Given the description of an element on the screen output the (x, y) to click on. 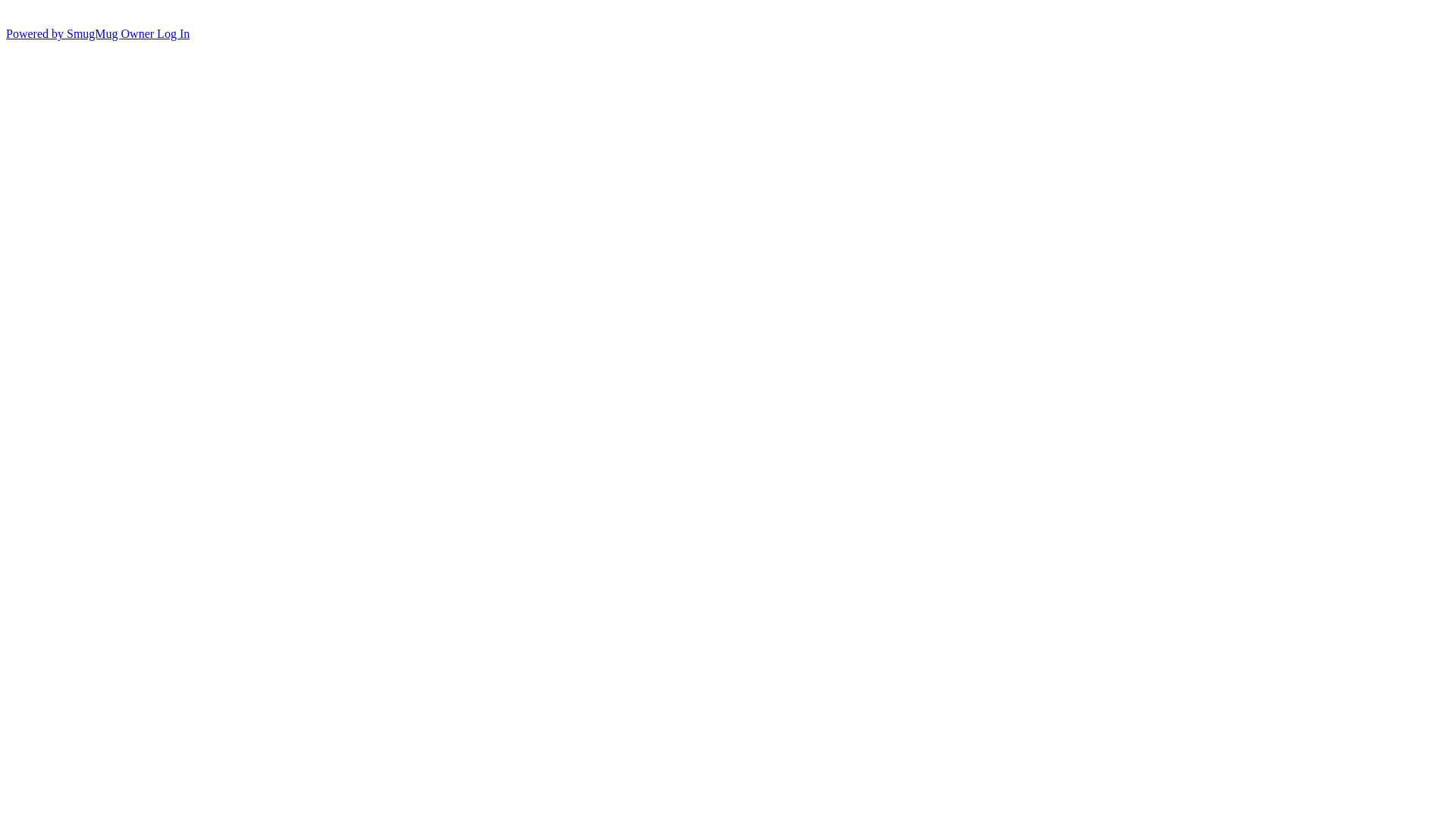
Powered by SmugMug Element type: text (63, 33)
Owner Log In Element type: text (155, 33)
